Given the description of an element on the screen output the (x, y) to click on. 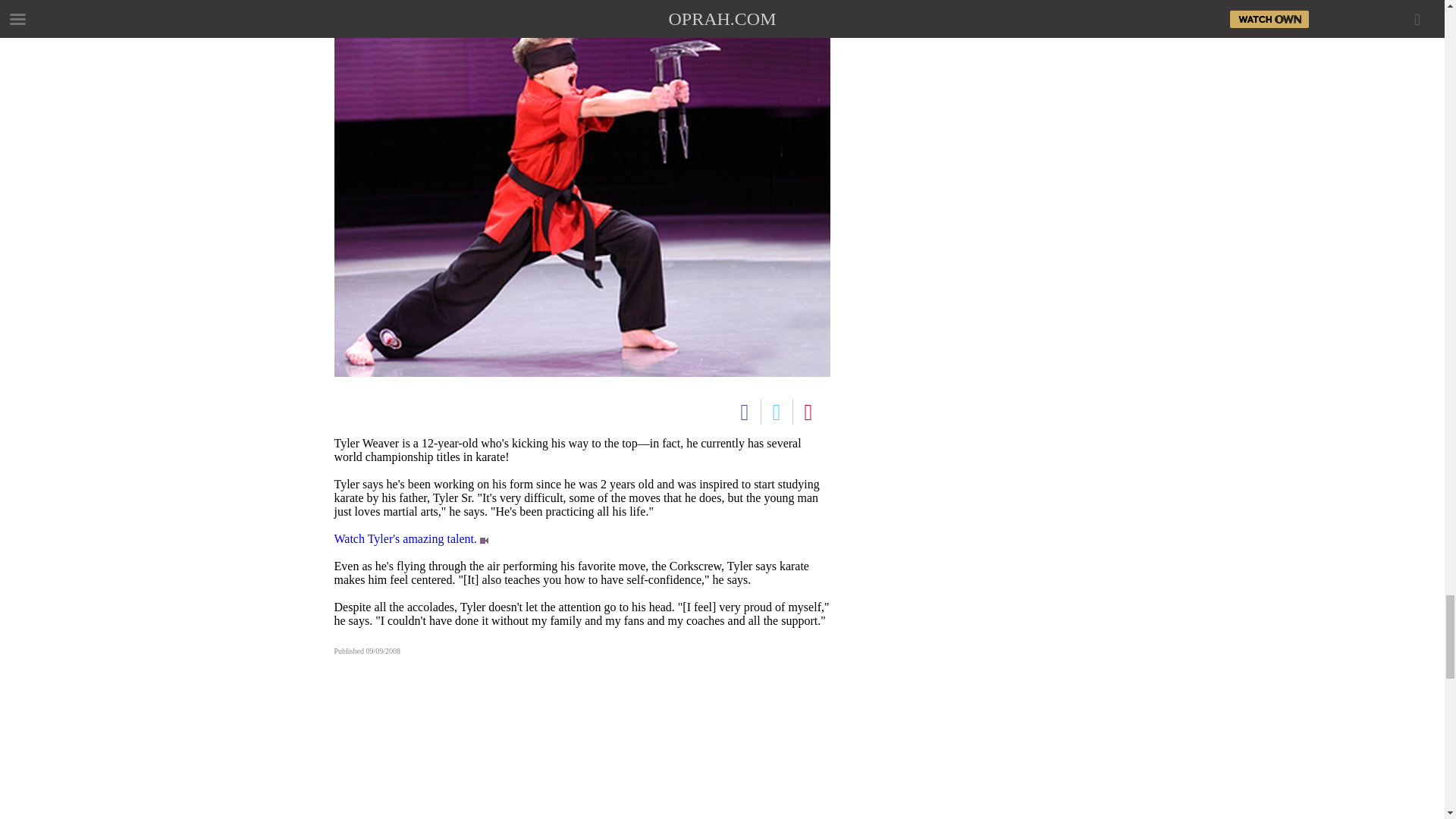
Watch Tyler's amazing talent. (405, 538)
